Given the description of an element on the screen output the (x, y) to click on. 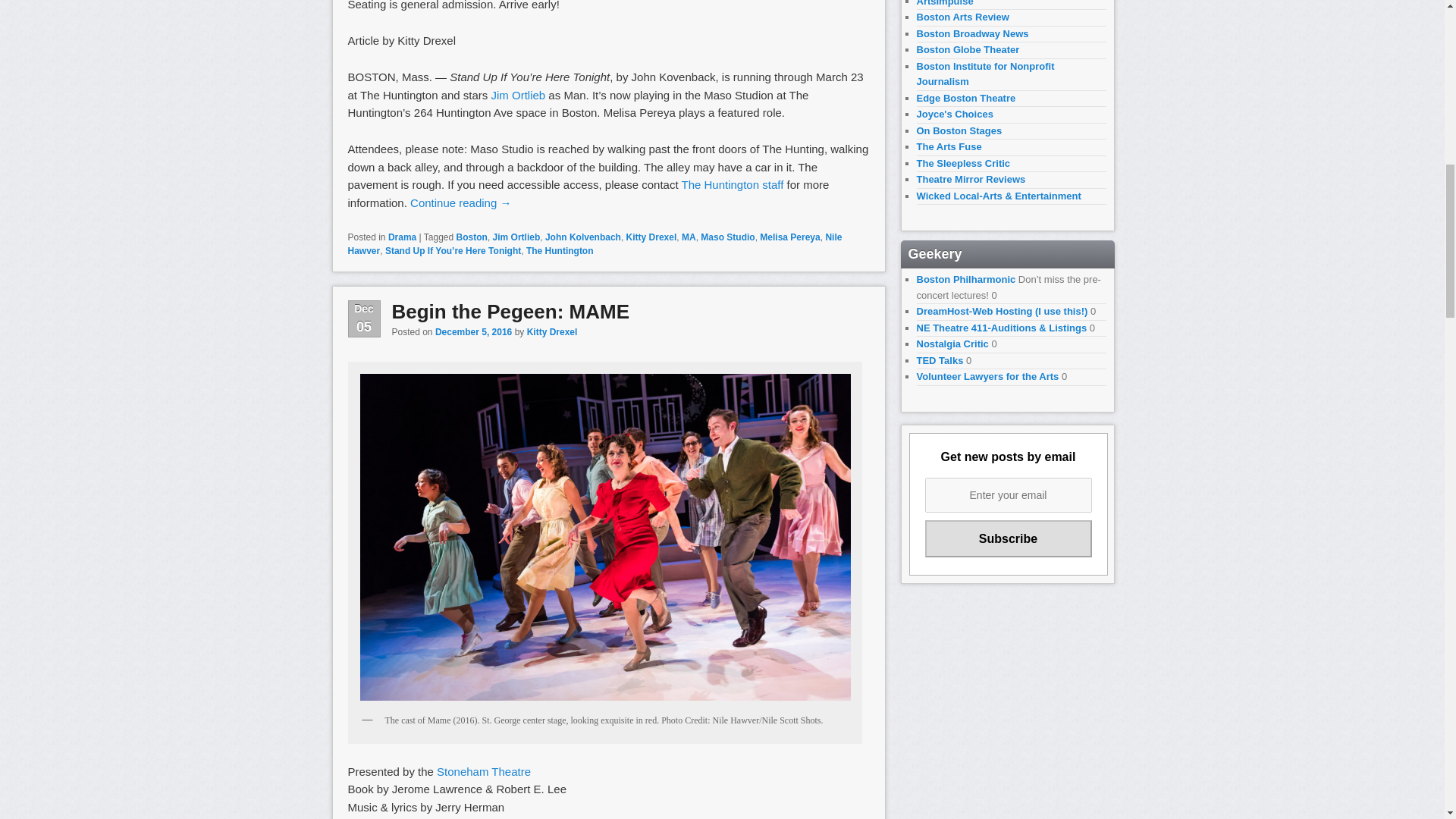
Nile Hawver (594, 243)
Jim Ortlieb (519, 94)
Begin the Pegeen: MAME (509, 311)
The Huntington staff (733, 184)
Stoneham Theatre (483, 771)
Melisa Pereya (789, 236)
Kitty Drexel (651, 236)
12:33 pm (473, 331)
Drama (402, 236)
Subscribe (1008, 538)
Maso Studio (727, 236)
Kitty Drexel (552, 331)
View all posts by Kitty Drexel (552, 331)
Jim Ortlieb (516, 236)
December 5, 2016 (473, 331)
